Given the description of an element on the screen output the (x, y) to click on. 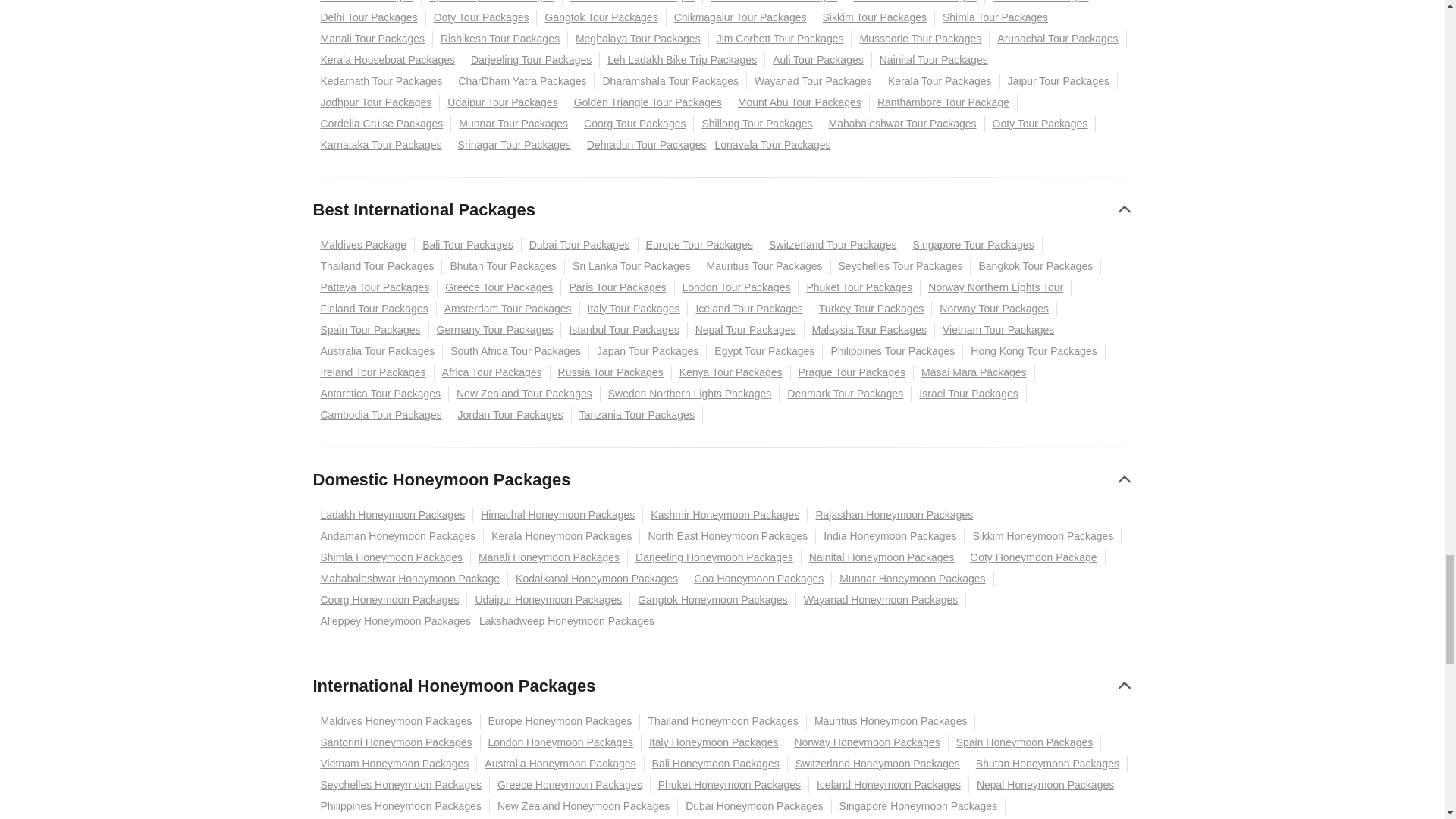
North East Tour Packages (915, 2)
Spiti Valley Tour Packages (492, 2)
Goa Tour Packages (367, 2)
South India Tour Packages (774, 2)
India Tour Packages (1041, 2)
North India Tour Packages (632, 2)
